Given the description of an element on the screen output the (x, y) to click on. 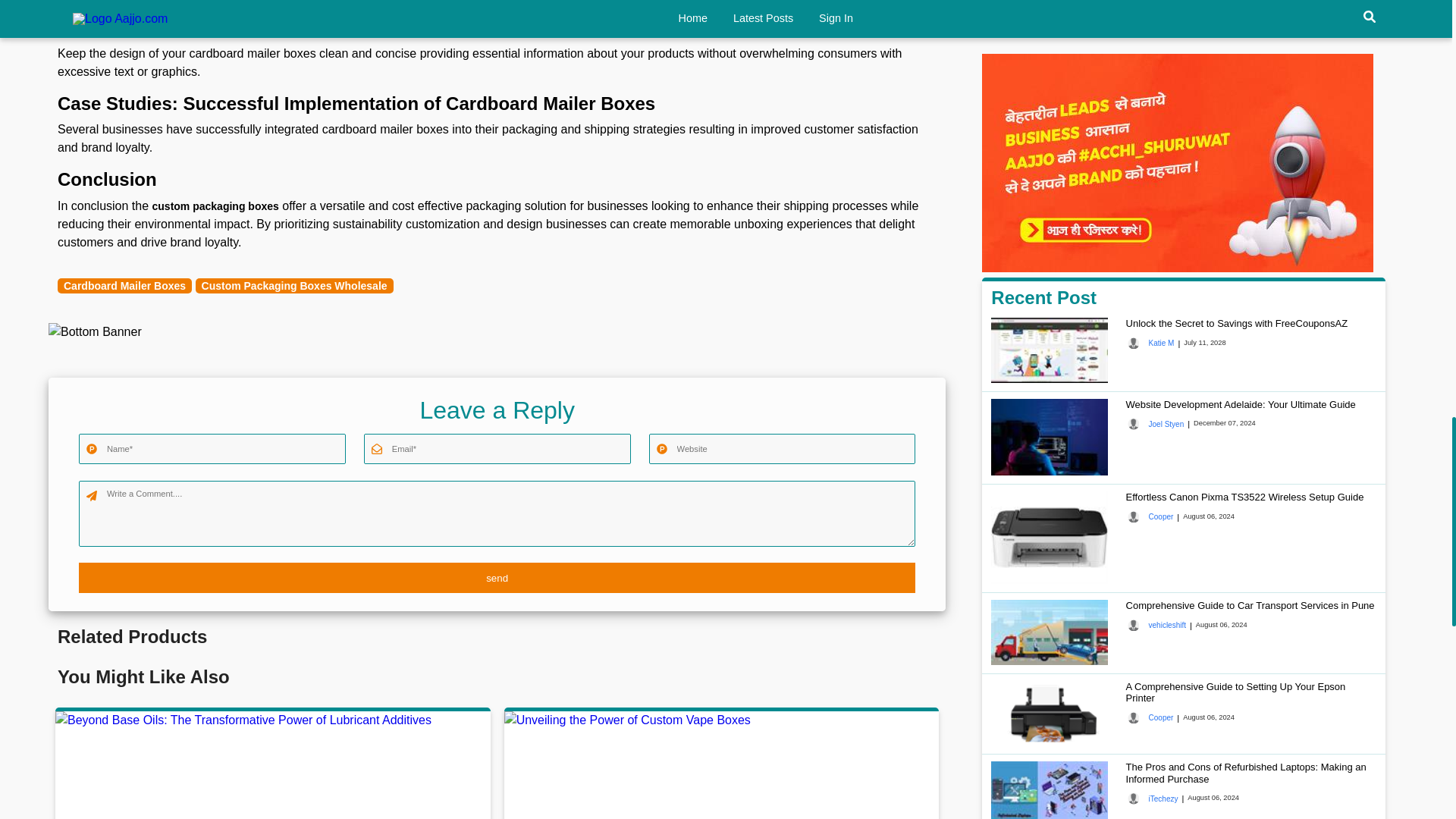
Cardboard Mailer Boxes (125, 285)
send (496, 577)
Custom Packaging Boxes Wholesale (294, 285)
Bottom Banner (94, 331)
custom packaging boxes (215, 205)
